Given the description of an element on the screen output the (x, y) to click on. 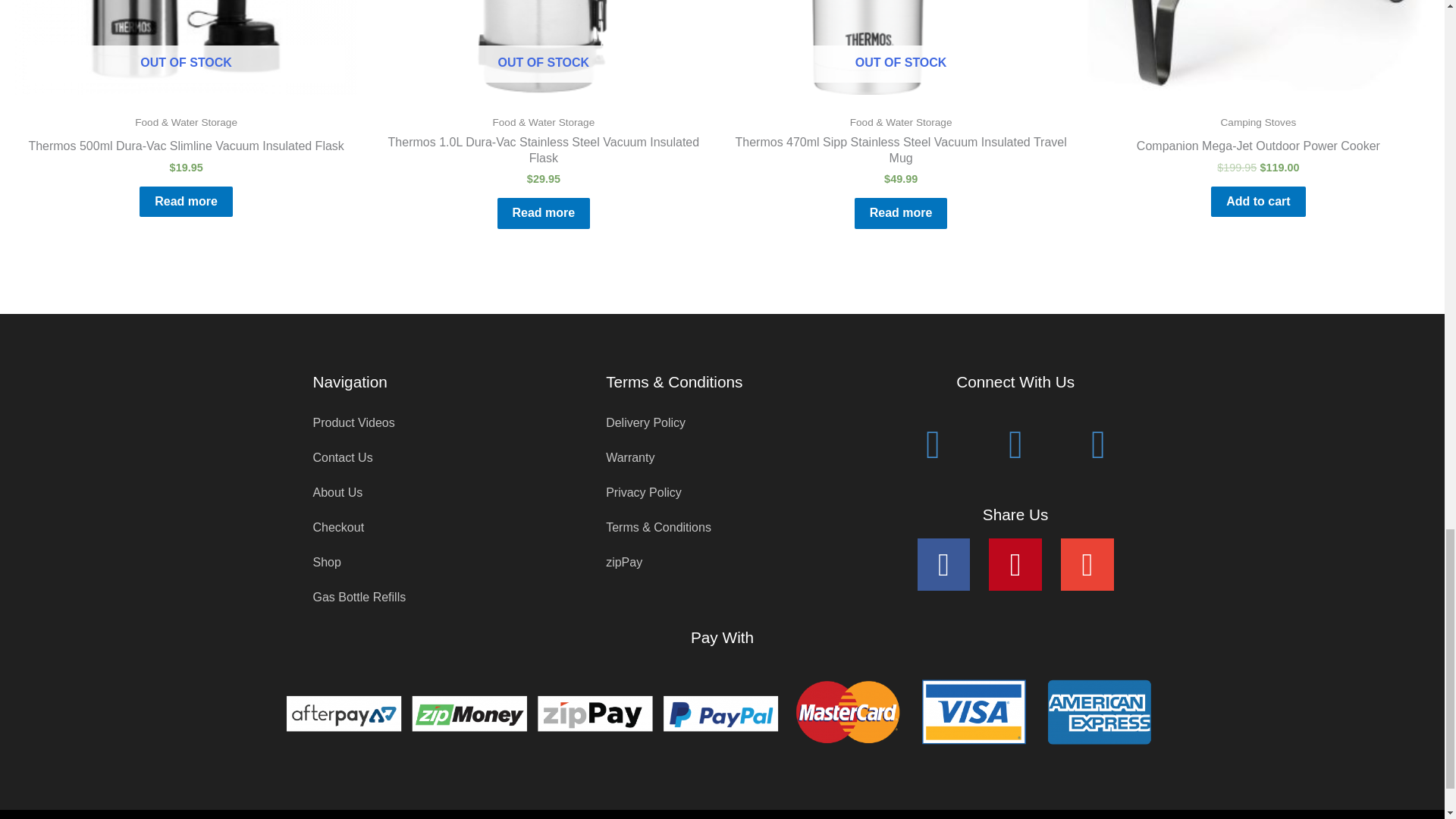
Thermos 500ml Dura-Vac Slimline Vacuum Insulated Flask (185, 149)
OUT OF STOCK (543, 47)
Read more (185, 201)
OUT OF STOCK (185, 47)
OUT OF STOCK (900, 47)
Read more (900, 213)
Read more (544, 213)
Thermos 1.0L Dura-Vac Stainless Steel Vacuum Insulated Flask (543, 153)
